Given the description of an element on the screen output the (x, y) to click on. 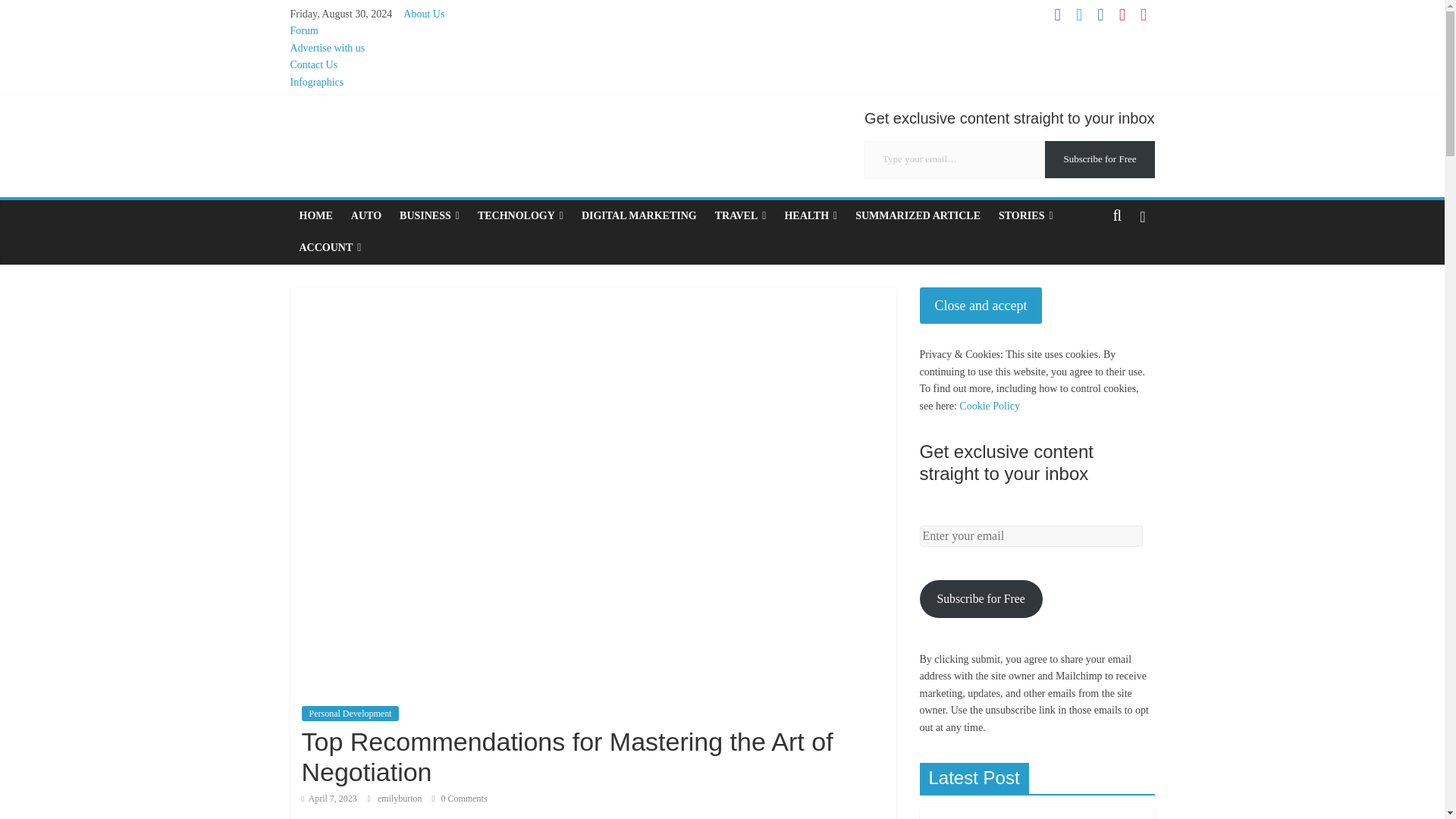
TECHNOLOGY (520, 215)
Advertise with us (327, 48)
emilyburton (401, 798)
Please fill in this field. (954, 159)
Close and accept (980, 305)
AUTO (366, 215)
Subscribe for Free (1099, 159)
9:46 am (328, 798)
HOME (314, 215)
Contact Us (313, 64)
